Given the description of an element on the screen output the (x, y) to click on. 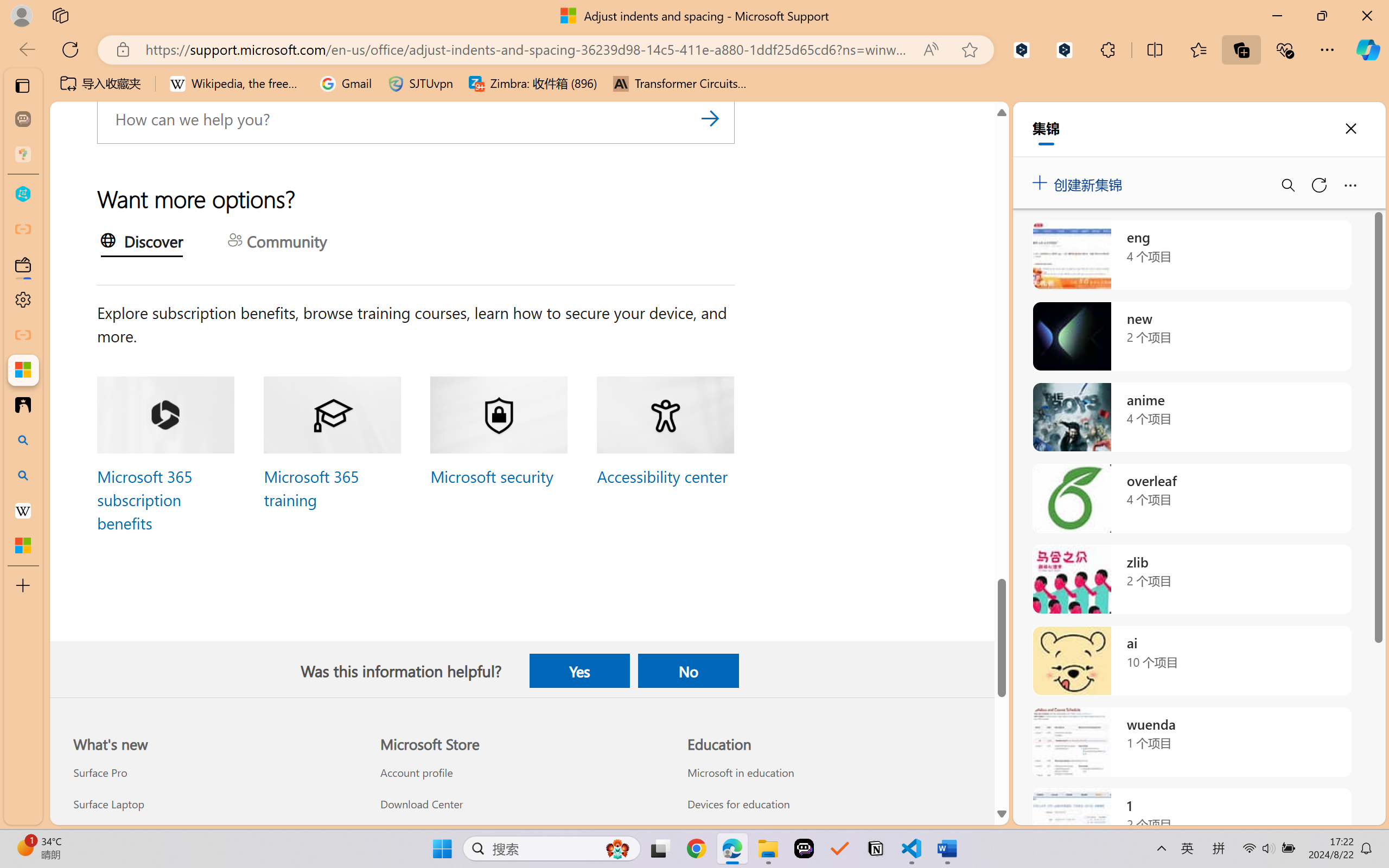
How can we help you? (415, 118)
Microsoft 365 training (310, 487)
Accessibility center (660, 475)
Microsoft Teams for Education (828, 835)
Microsoft in education (828, 772)
Surface Pro (214, 772)
